Given the description of an element on the screen output the (x, y) to click on. 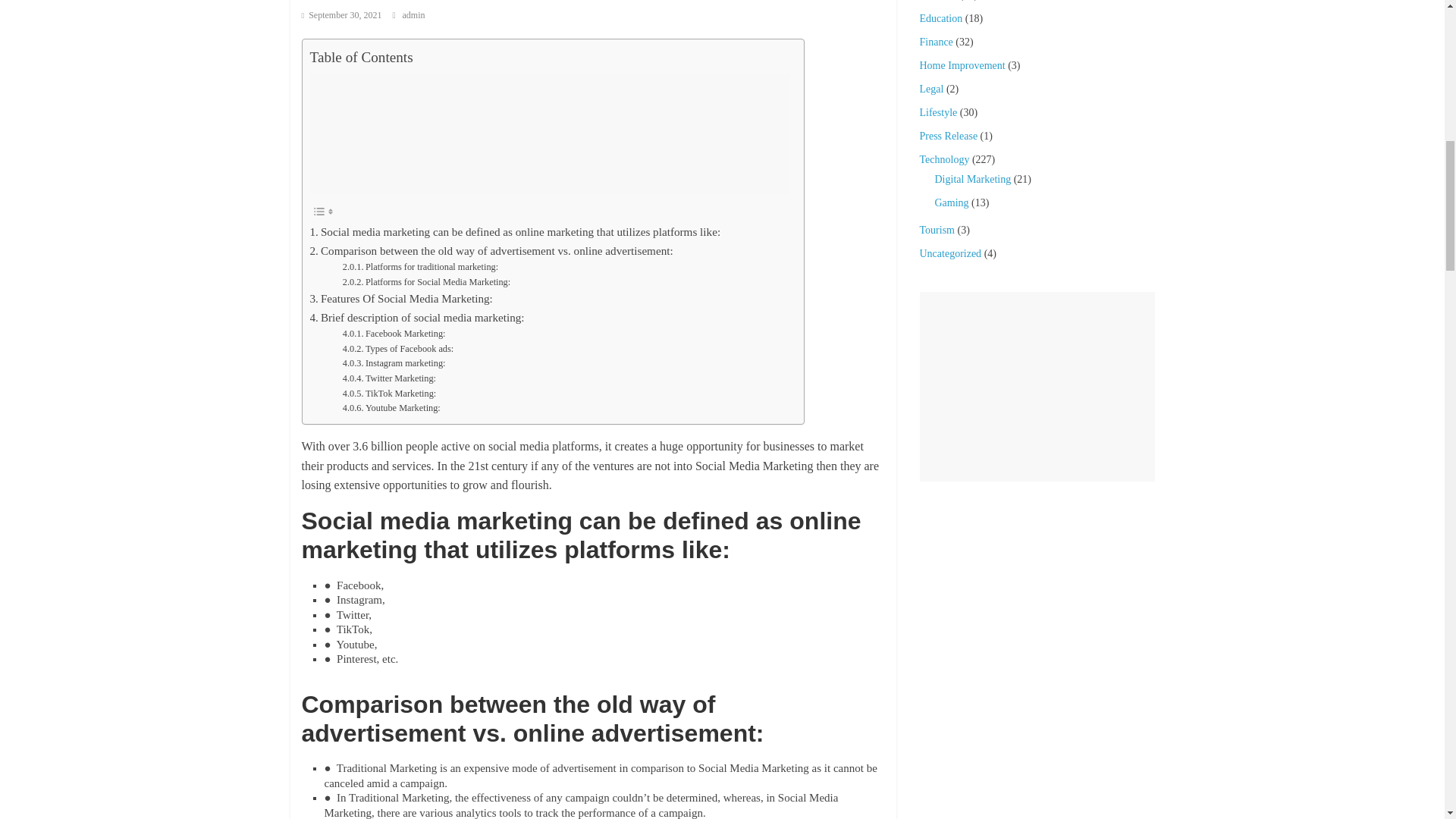
Facebook Marketing: (393, 334)
Types of Facebook ads: (397, 349)
September 30, 2021 (341, 14)
Youtube Marketing: (391, 408)
TikTok Marketing: (388, 394)
Platforms for traditional marketing: (419, 267)
Facebook Marketing: (393, 334)
Advertisement (547, 134)
Platforms for Social Media Marketing: (426, 282)
Brief description of social media marketing: (416, 317)
Instagram marketing: (393, 363)
Twitter Marketing: (388, 378)
Features Of Social Media Marketing: (400, 298)
admin (414, 14)
